Given the description of an element on the screen output the (x, y) to click on. 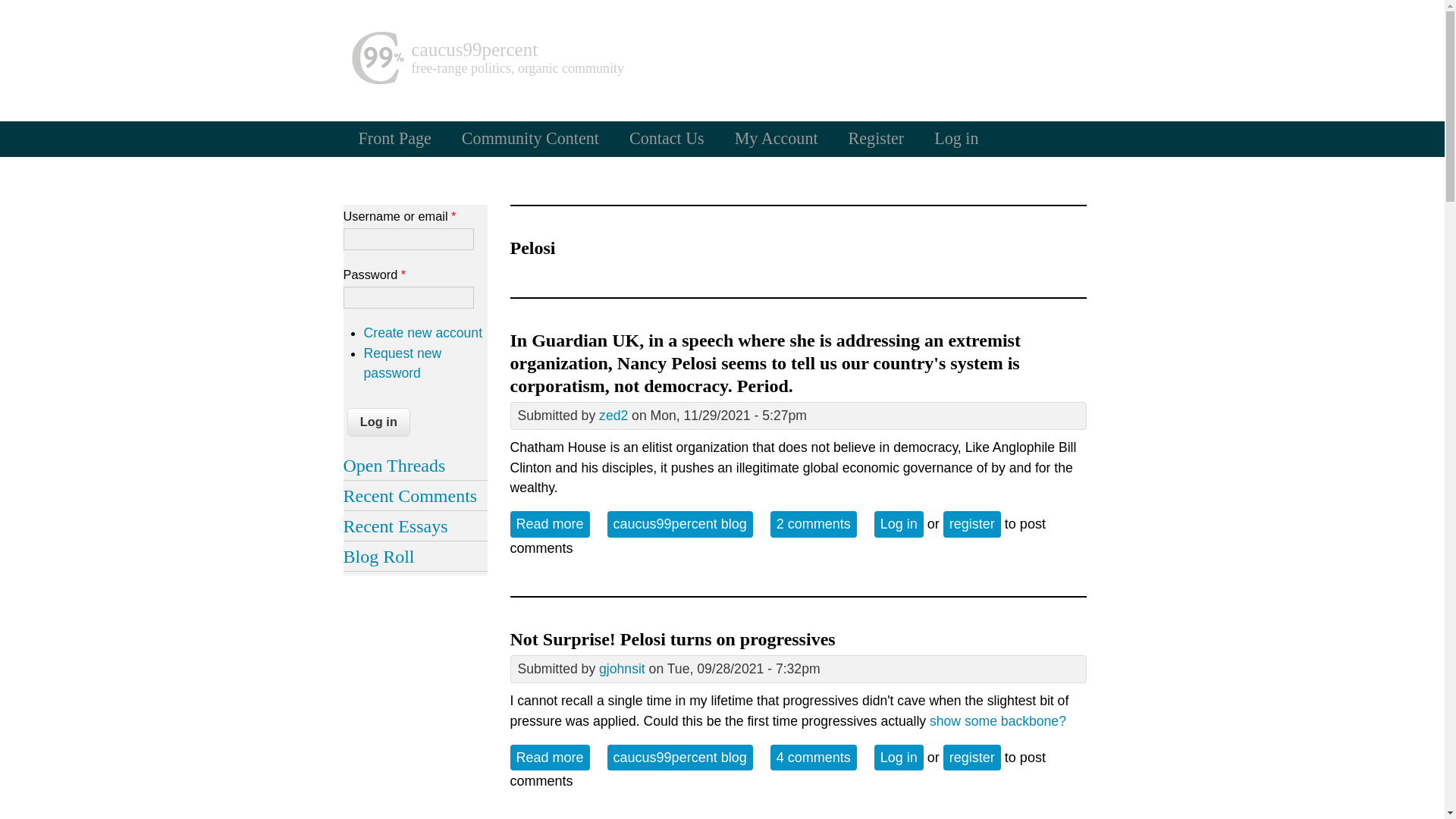
Read the latest caucus99percent blog entries. (679, 524)
Front Page Featured Editorials (393, 138)
show some backbone? (997, 720)
Log in (899, 757)
Contact Us (666, 138)
Contact the Administrator (666, 138)
View user profile. (621, 668)
register (972, 757)
My Account (775, 138)
